Given the description of an element on the screen output the (x, y) to click on. 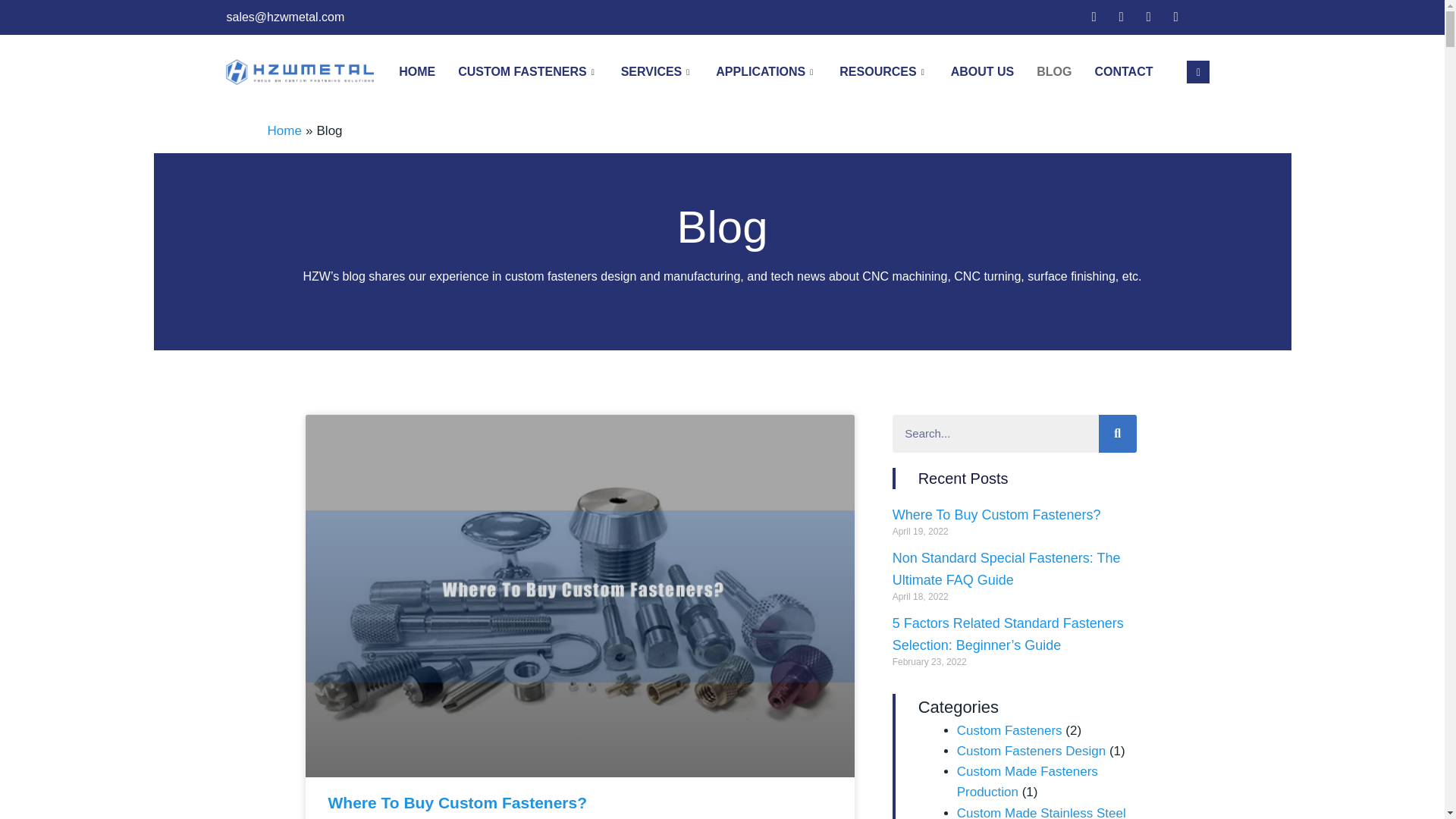
HOME (416, 71)
Search (1118, 433)
SERVICES (657, 71)
CUSTOM FASTENERS (528, 71)
Search (995, 433)
APPLICATIONS (766, 71)
